Given the description of an element on the screen output the (x, y) to click on. 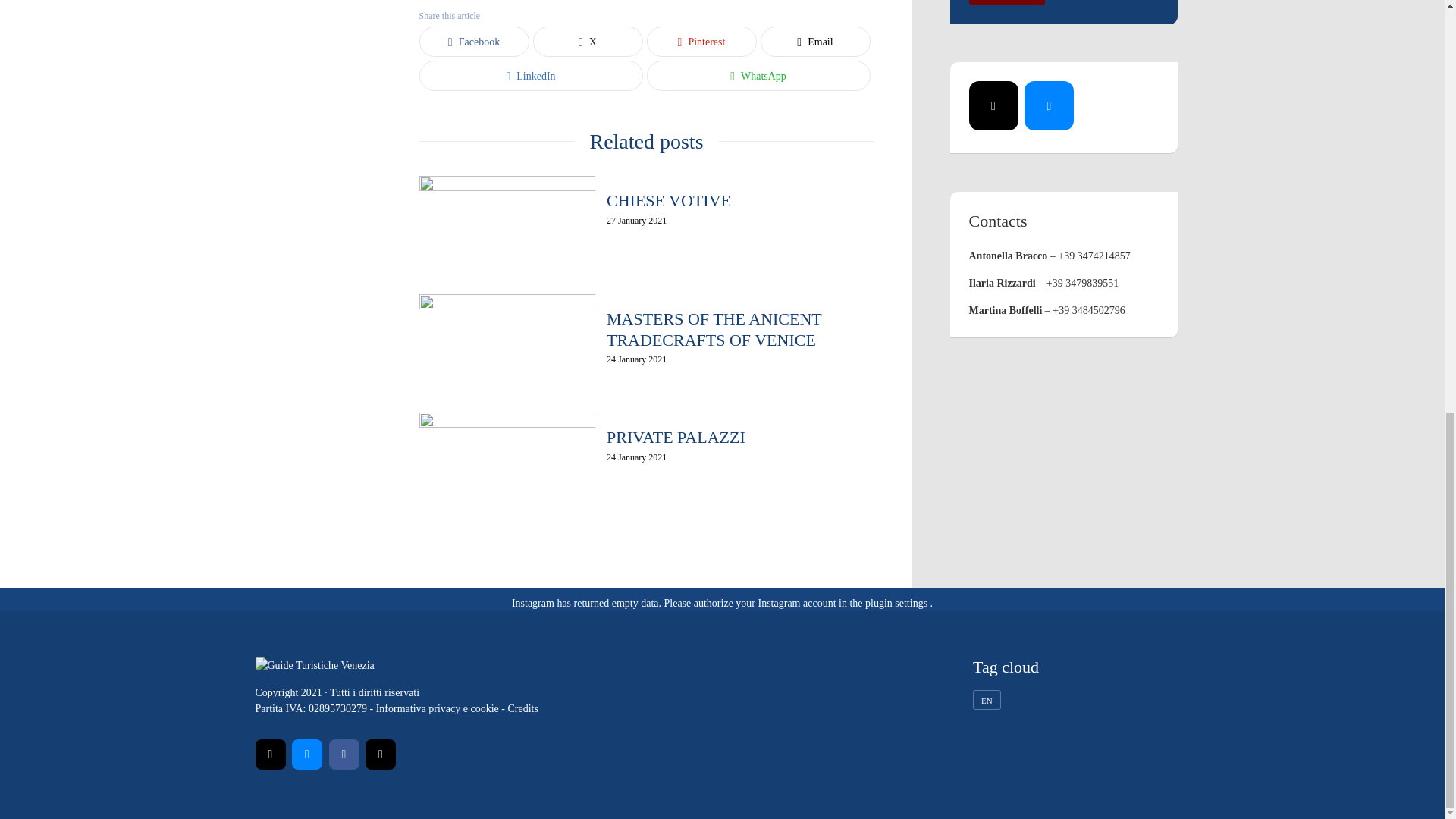
Facebook Messenger (1049, 105)
Mail (993, 105)
Facebook (344, 754)
Instagram (380, 754)
Mail (269, 754)
Facebook Messenger (306, 754)
